Given the description of an element on the screen output the (x, y) to click on. 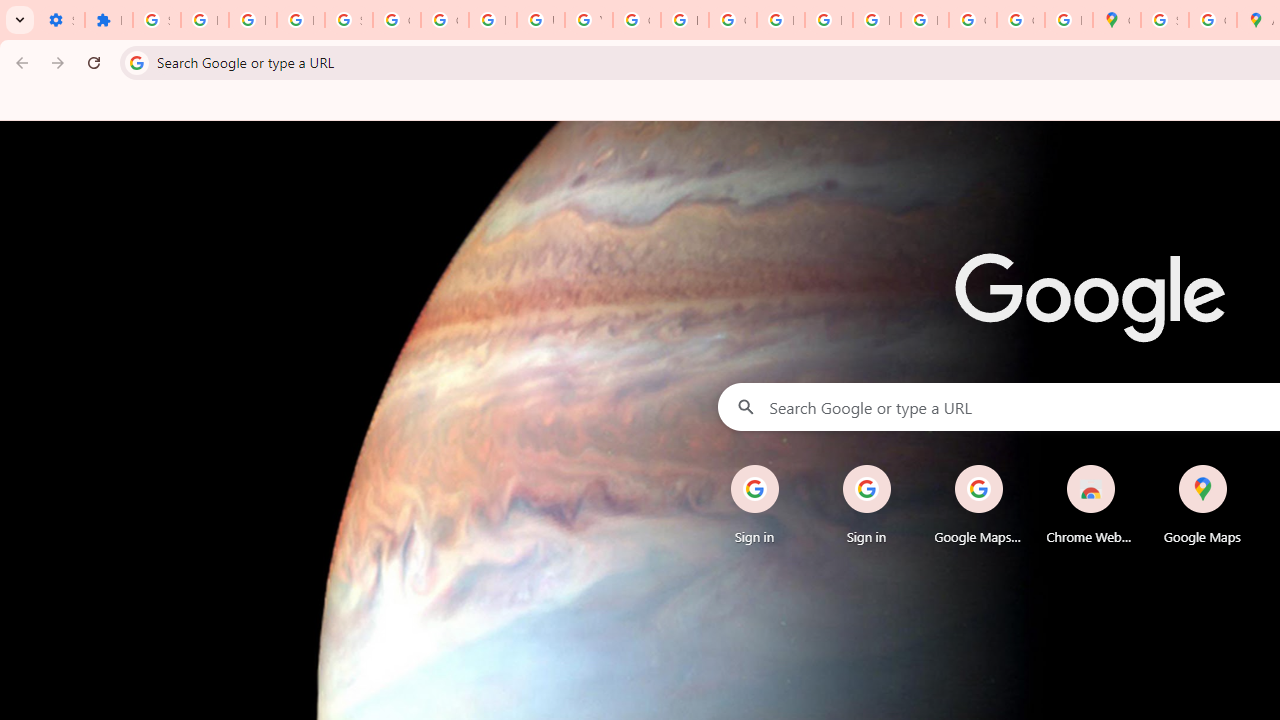
https://scholar.google.com/ (684, 20)
Google Account Help (444, 20)
Google Account Help (396, 20)
